Given the description of an element on the screen output the (x, y) to click on. 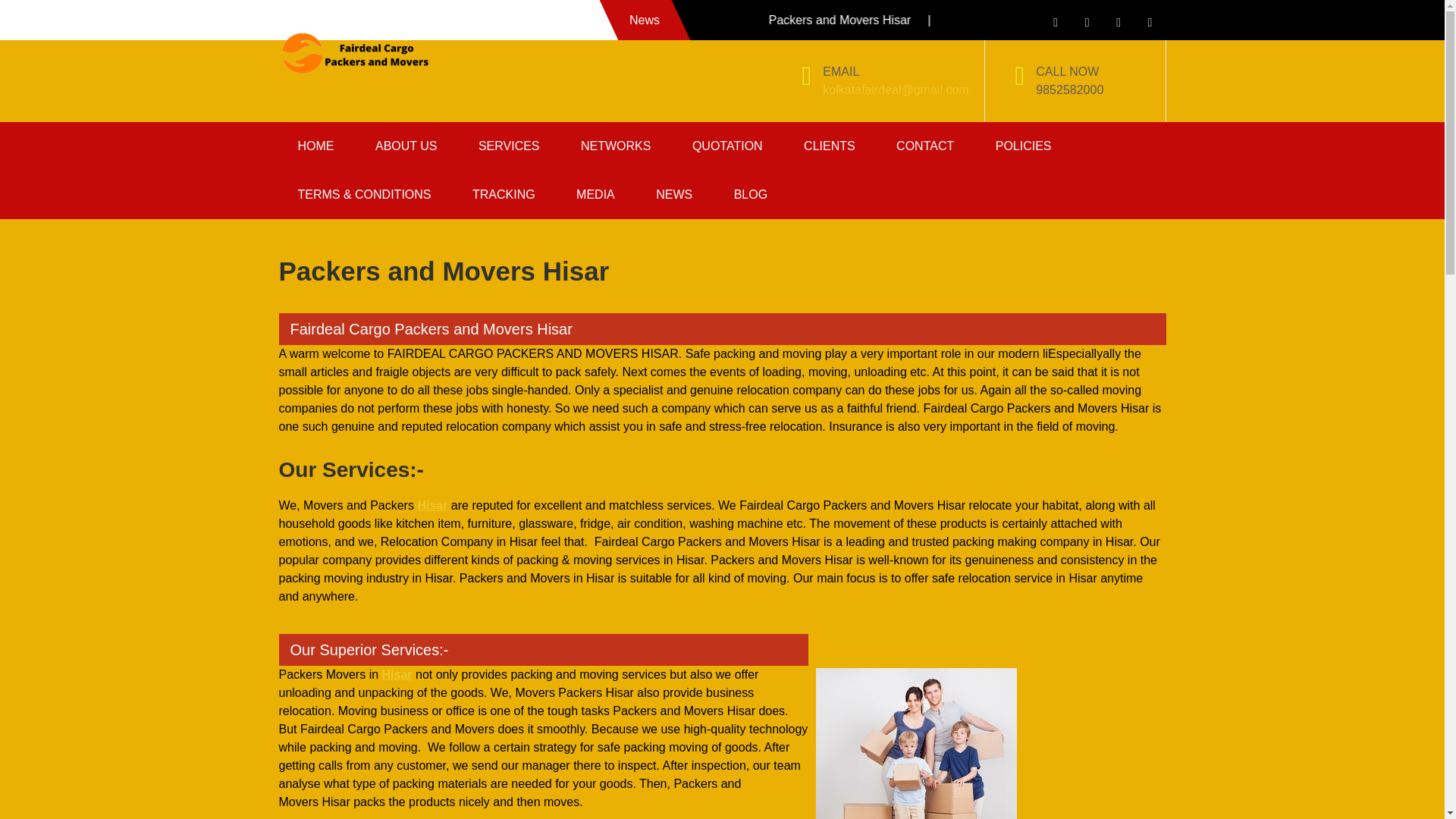
packers and movers Hisar (915, 743)
NETWORKS (615, 146)
HOME (316, 146)
SERVICES (509, 146)
ABOUT US (406, 146)
